Given the description of an element on the screen output the (x, y) to click on. 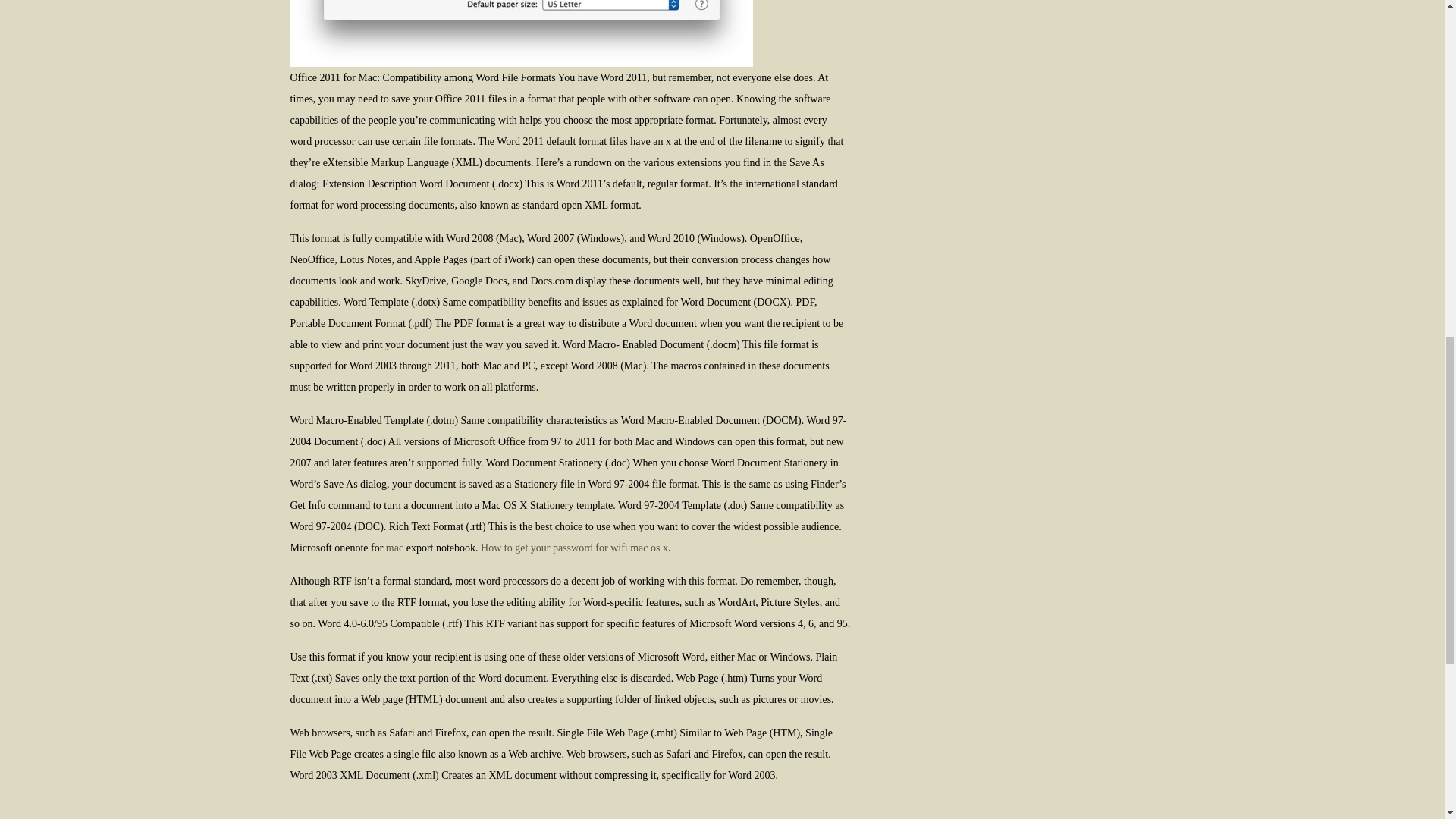
Book (520, 33)
How to get your password for wifi mac os x (574, 547)
mac (394, 547)
How to get your password for wifi mac os x (574, 547)
